Given the description of an element on the screen output the (x, y) to click on. 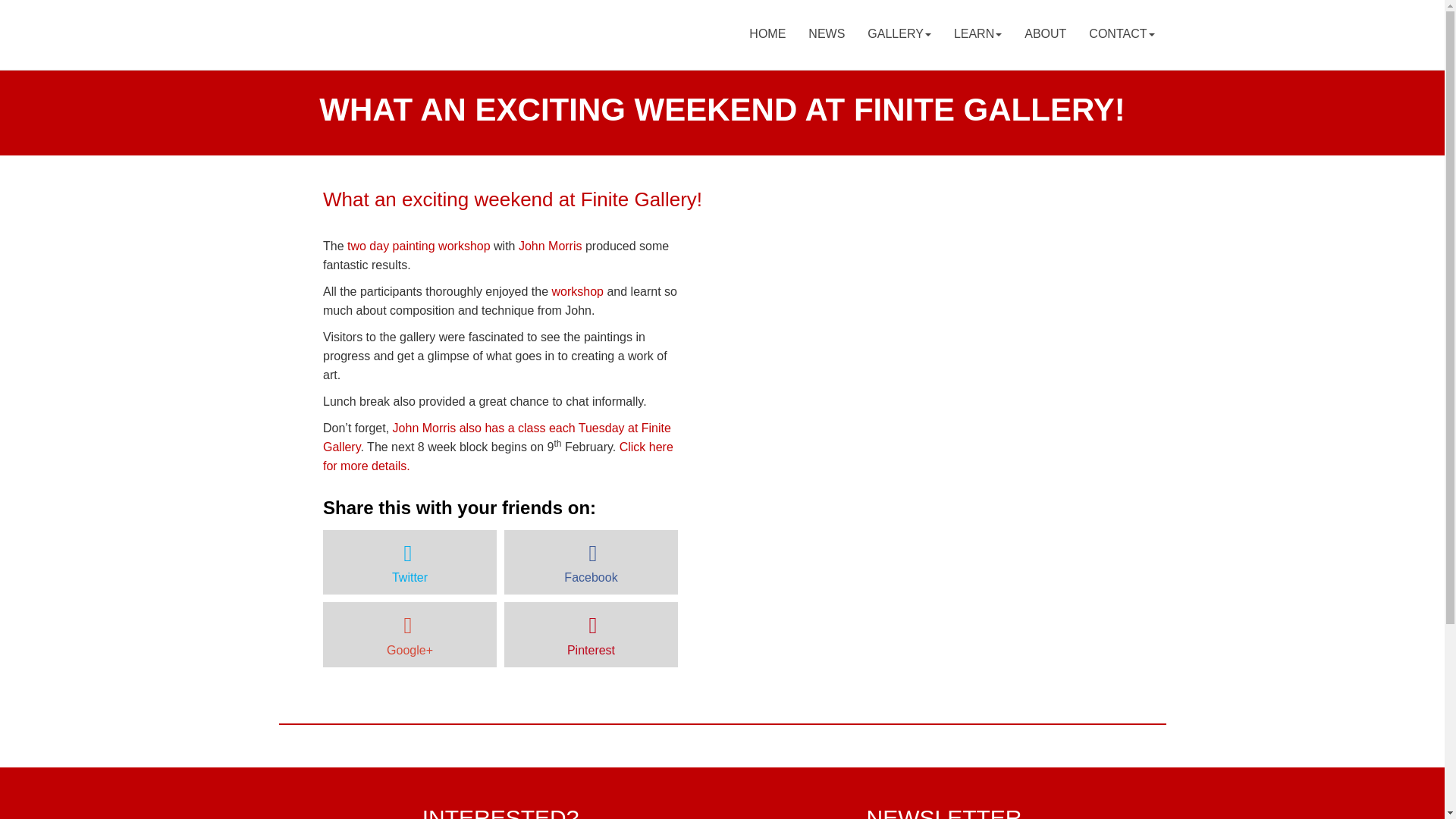
HOME (767, 34)
LEARN (977, 34)
CONTACT (1121, 34)
GALLERY (899, 34)
NEWS (826, 34)
workshop (577, 291)
Click here for more details. (497, 456)
ABOUT (1045, 34)
two day painting workshop (420, 245)
John Morris (550, 245)
John Morris also has a class each Tuesday at Finite Gallery (497, 437)
What an exciting weekend at Finite Gallery! (512, 199)
